Given the description of an element on the screen output the (x, y) to click on. 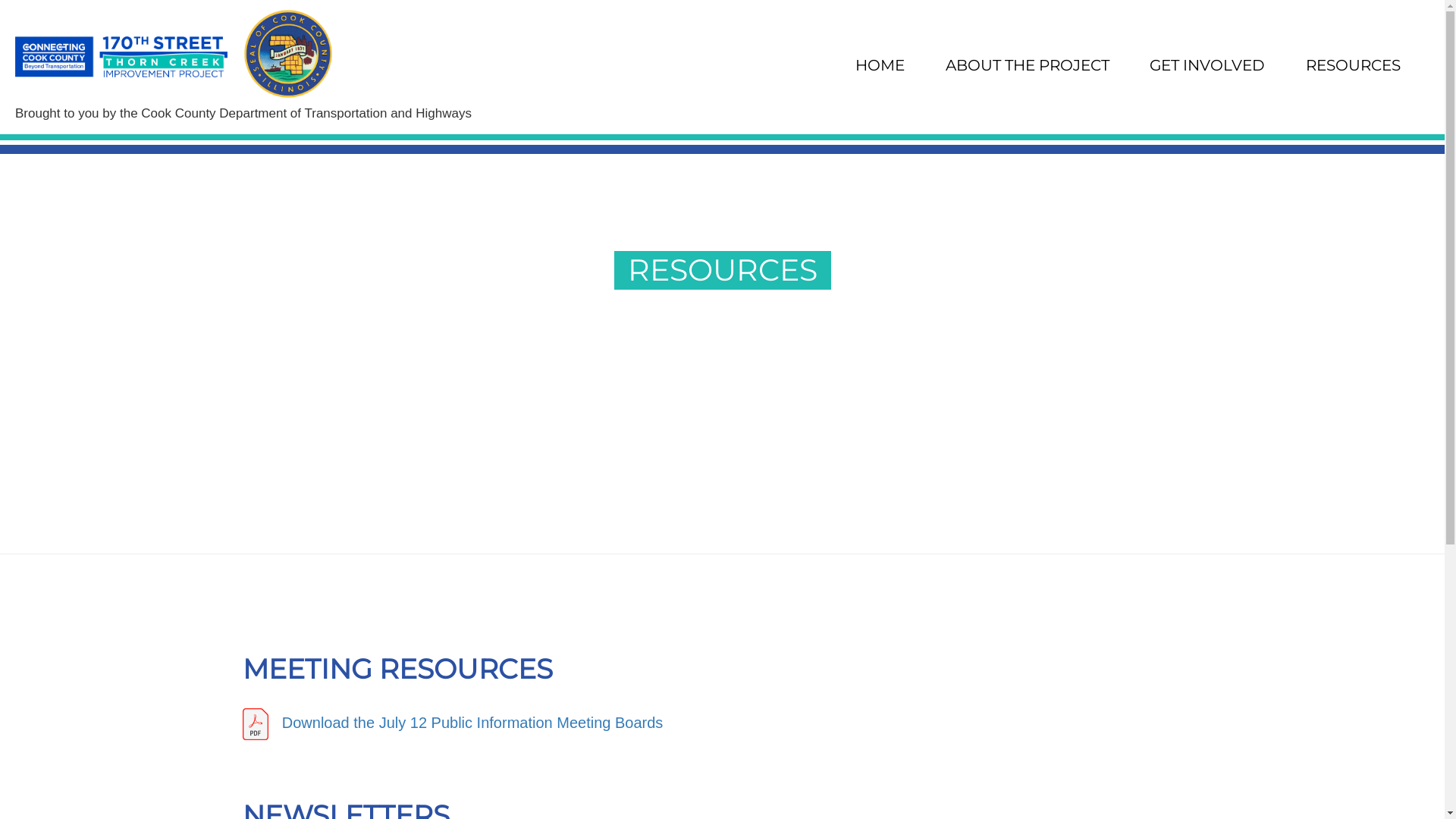
Download the July 12 Public Information Meeting Boards Element type: text (721, 724)
HOME Element type: text (879, 64)
RESOURCES Element type: text (1352, 64)
GET INVOLVED Element type: text (1206, 64)
ABOUT THE PROJECT Element type: text (1027, 64)
